Given the description of an element on the screen output the (x, y) to click on. 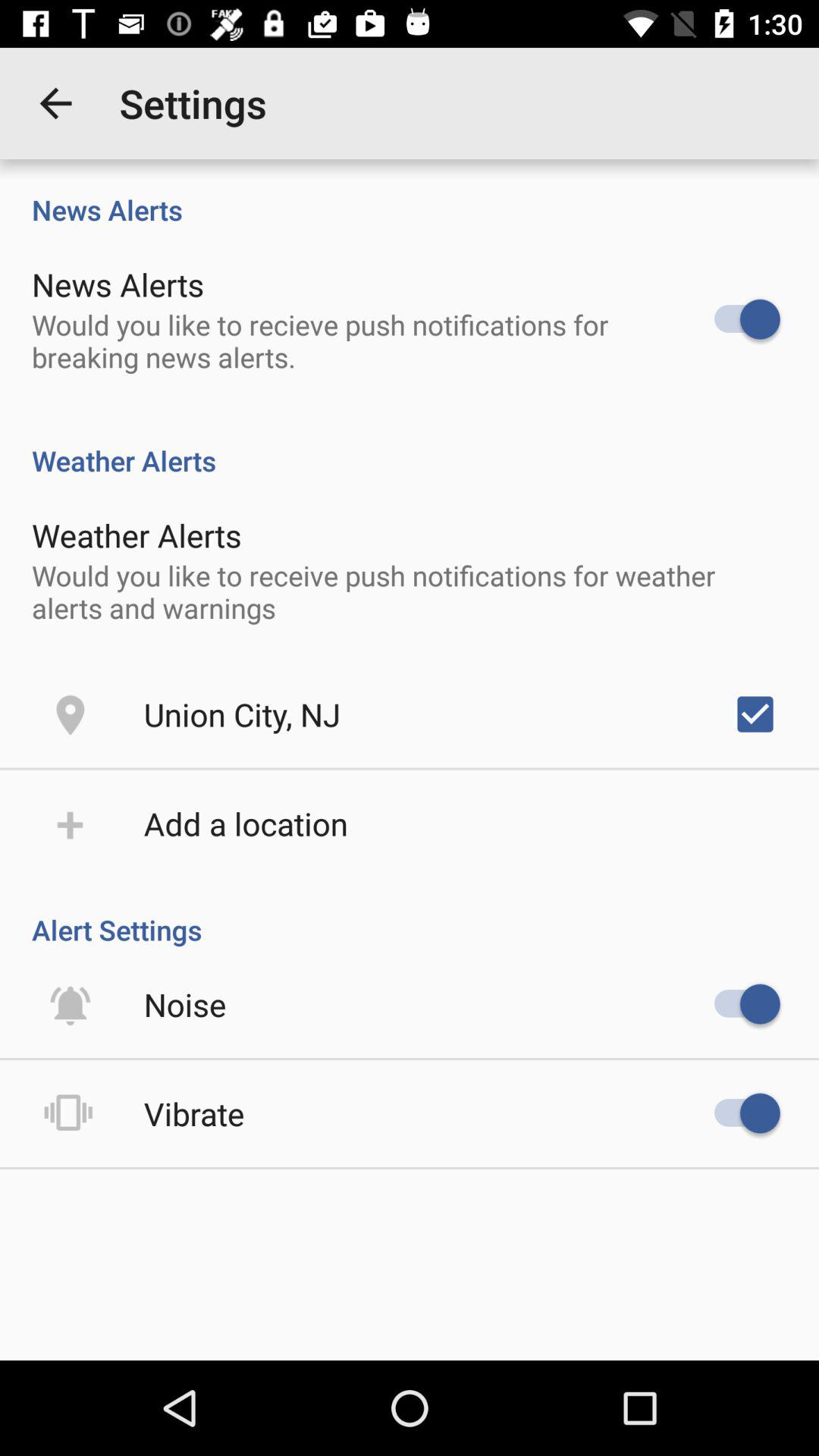
turn on union city, nj icon (241, 713)
